Given the description of an element on the screen output the (x, y) to click on. 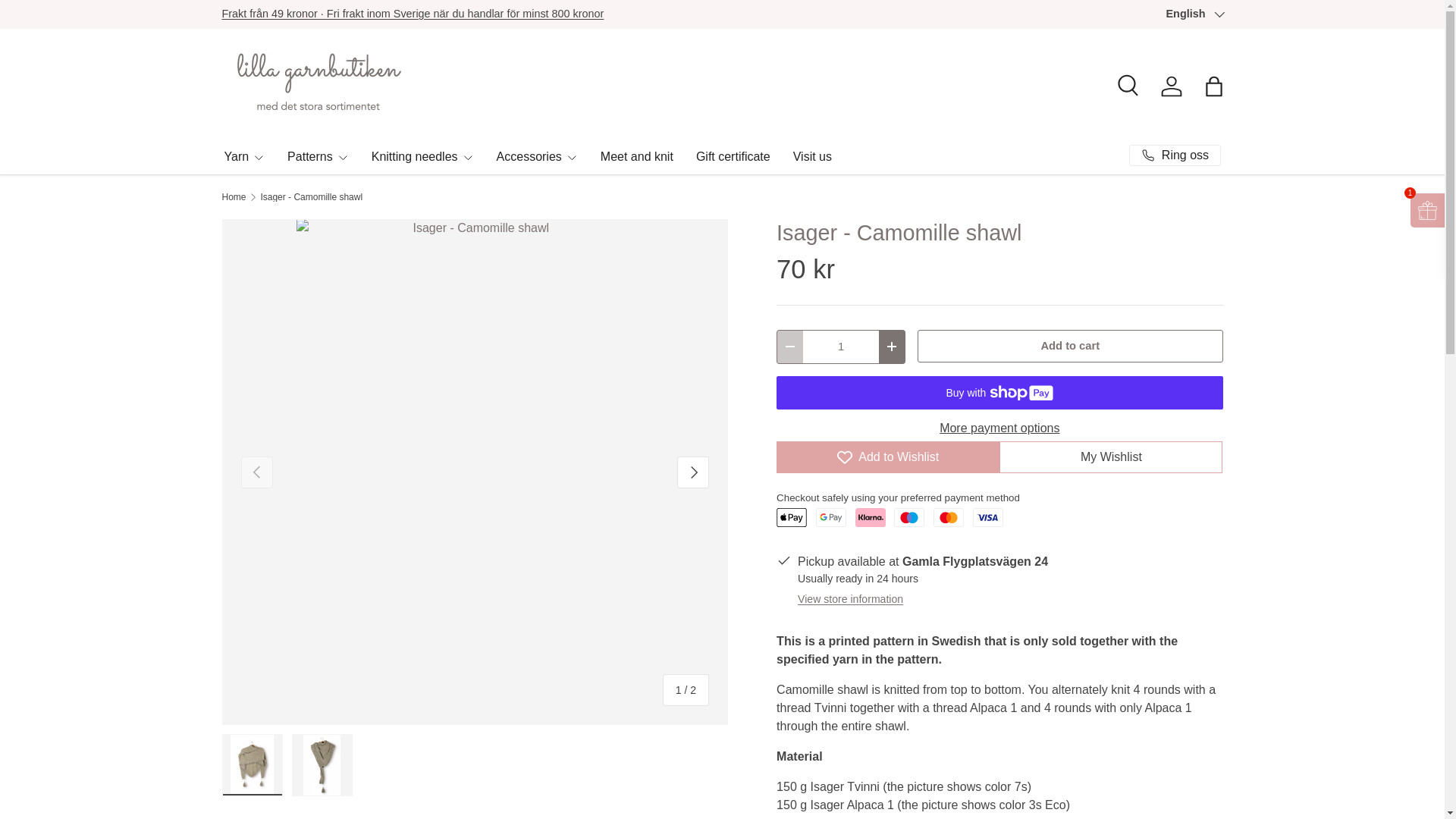
Yarn (244, 156)
Skip to content (64, 21)
Search (1128, 86)
Bag (1213, 86)
Log in (1171, 86)
1 (841, 346)
English (1194, 13)
